Given the description of an element on the screen output the (x, y) to click on. 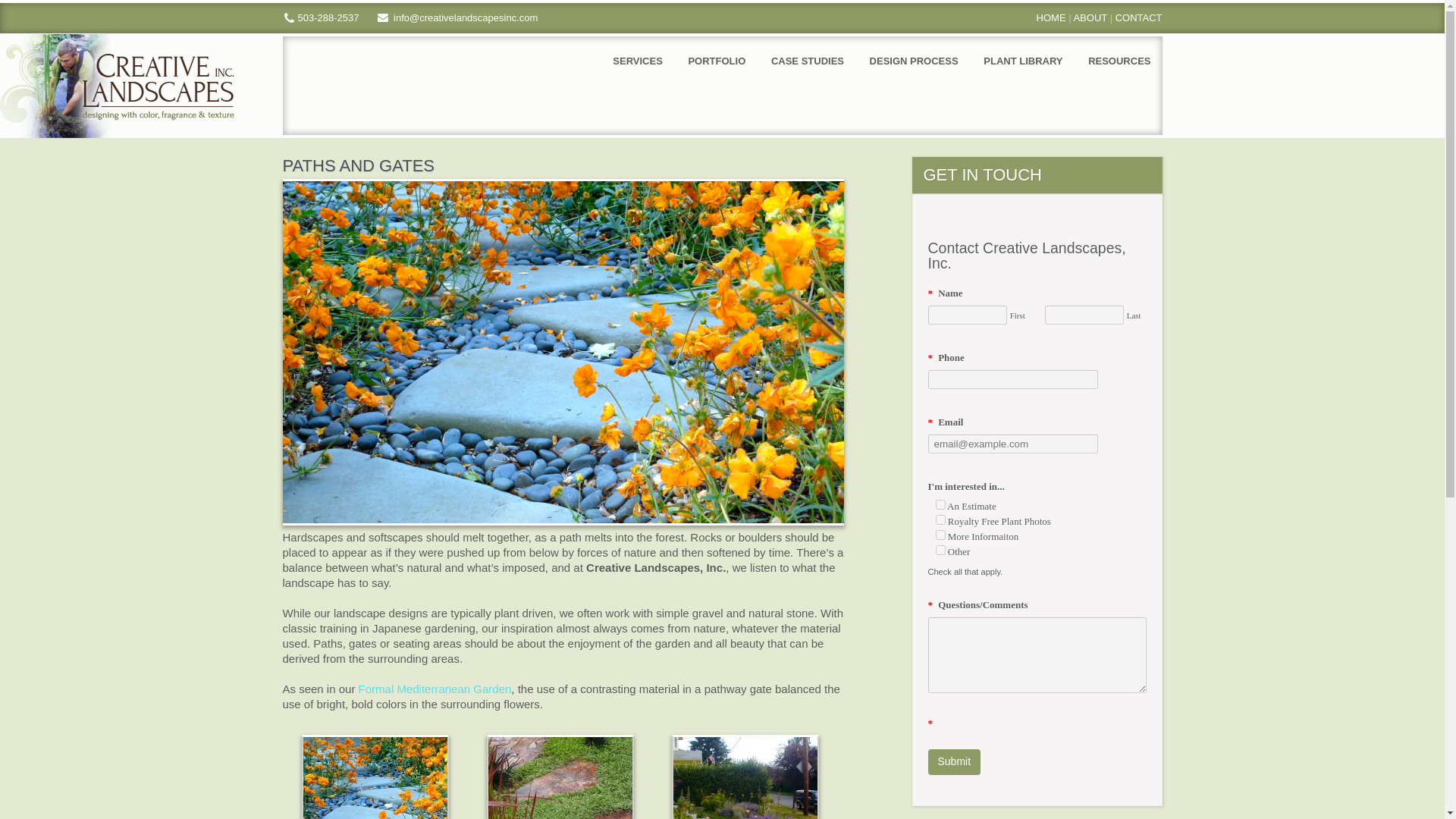
PLANT LIBRARY (1023, 61)
More Informaiton (940, 534)
Formal Mediterranean Garden (435, 688)
DESIGN PROCESS (914, 61)
Submit (954, 761)
An Estimate (940, 504)
Submit (954, 761)
CONTACT (1138, 17)
Other (940, 550)
RESOURCES (1119, 61)
SERVICES (637, 61)
HOME (1050, 17)
Royalty Free Plant Photos (940, 519)
PORTFOLIO (717, 61)
CASE STUDIES (808, 61)
